Given the description of an element on the screen output the (x, y) to click on. 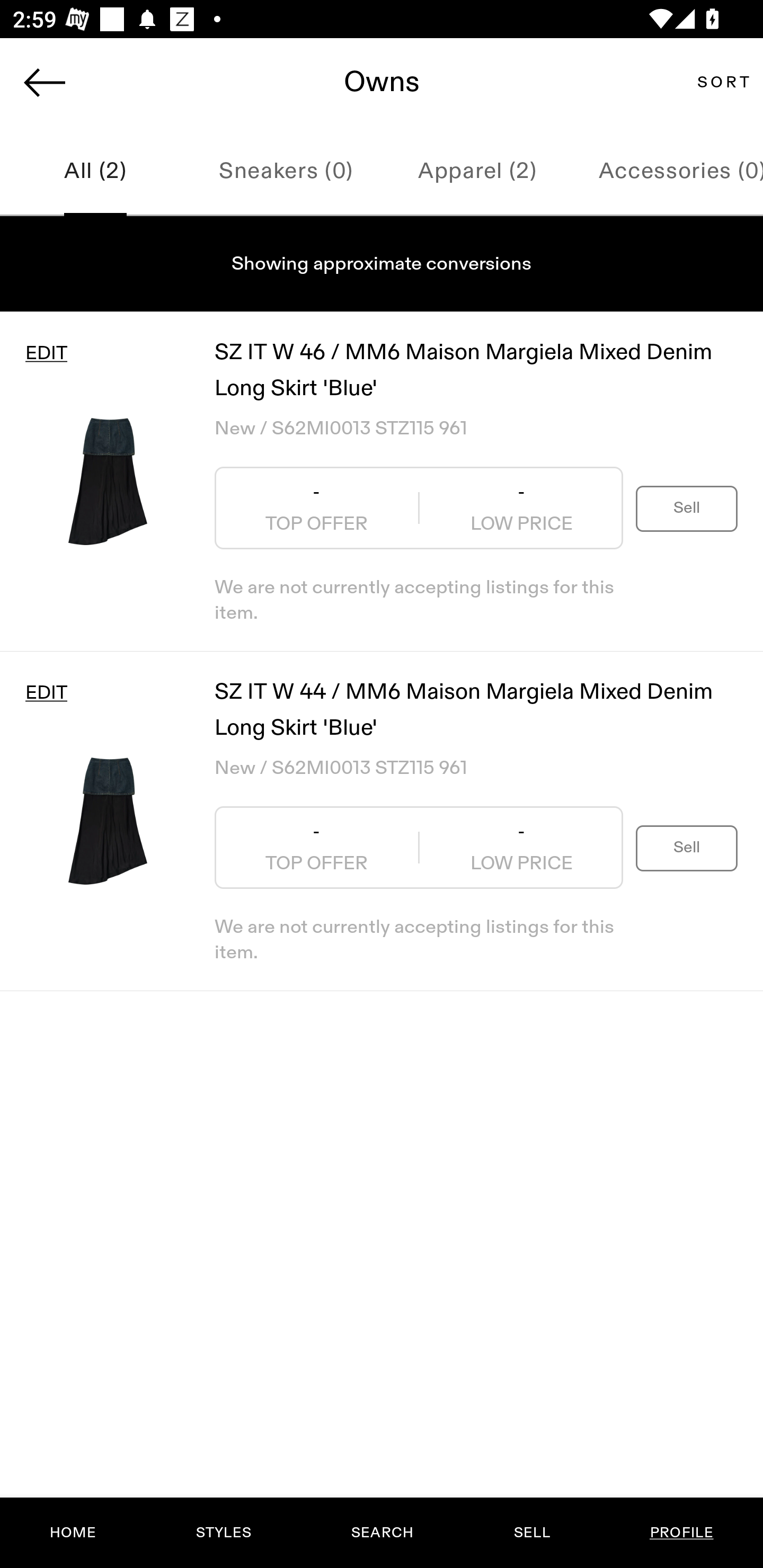
SORT (722, 81)
Sneakers (0) (285, 171)
Apparel (2) (476, 171)
Accessories (0) (667, 171)
EDIT (46, 352)
- - TOP OFFER LOW PRICE (418, 507)
Sell (686, 507)
EDIT (46, 692)
- - TOP OFFER LOW PRICE (418, 847)
Sell (686, 847)
HOME (72, 1532)
STYLES (222, 1532)
SEARCH (381, 1532)
SELL (531, 1532)
PROFILE (681, 1532)
